Given the description of an element on the screen output the (x, y) to click on. 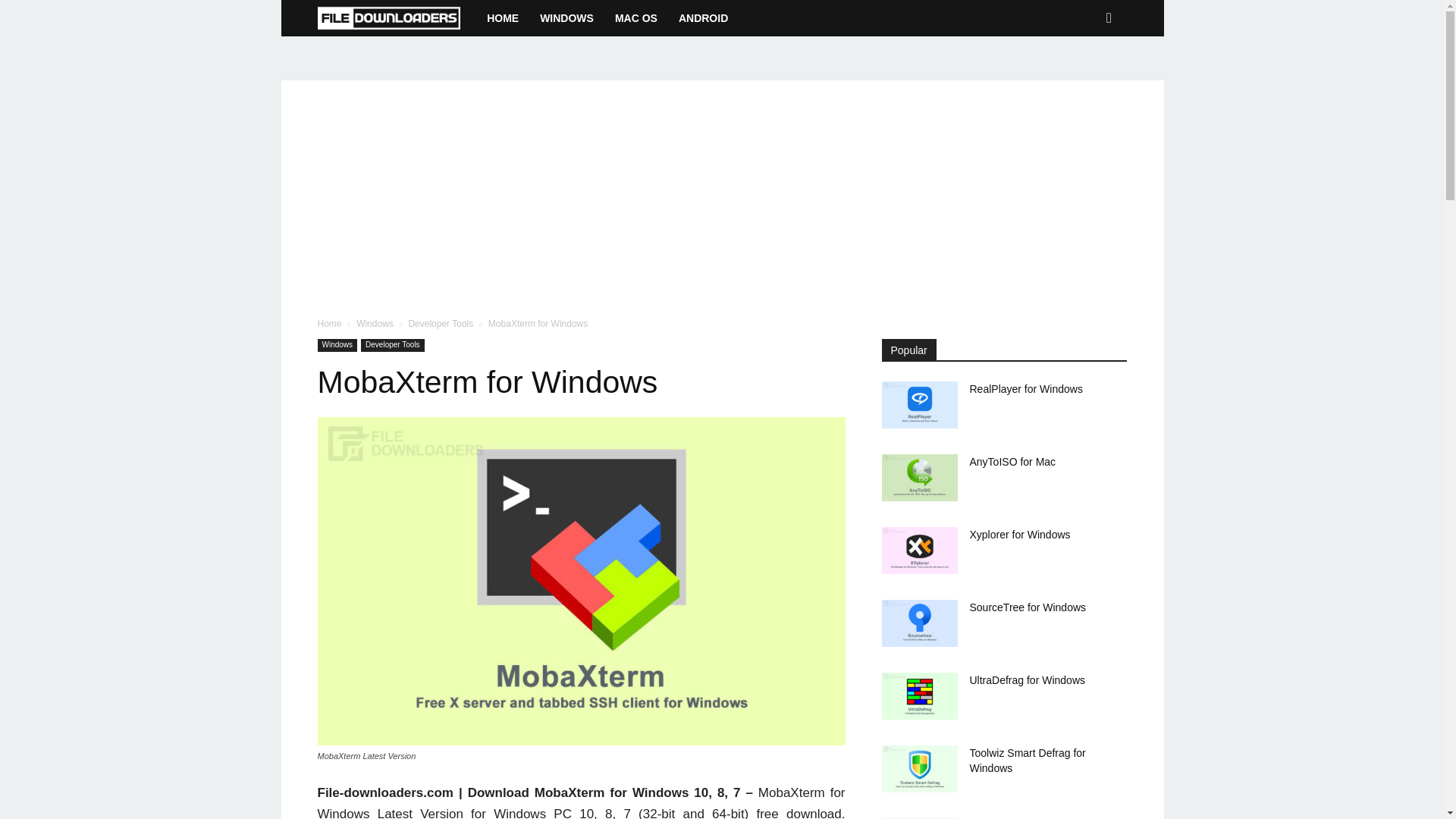
Home (328, 323)
MAC OS (636, 18)
HOME (502, 18)
View all posts in Windows (374, 323)
Search (1085, 78)
WINDOWS (566, 18)
ANDROID (703, 18)
Windows (336, 345)
Developer Tools (440, 323)
